Given the description of an element on the screen output the (x, y) to click on. 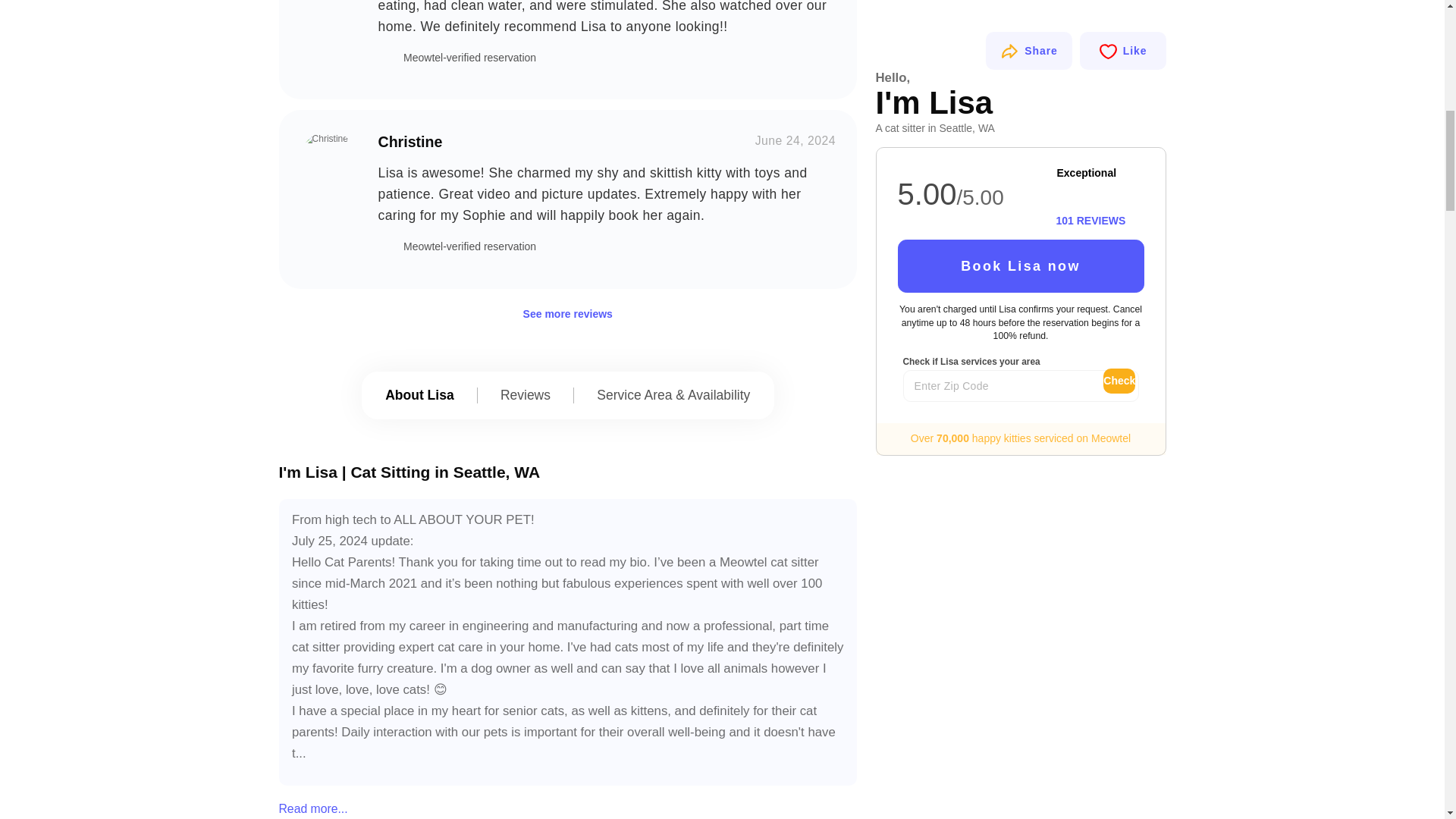
Christine (327, 159)
About Lisa (419, 395)
Read more... (351, 808)
See more reviews (567, 313)
Reviews (525, 395)
